Given the description of an element on the screen output the (x, y) to click on. 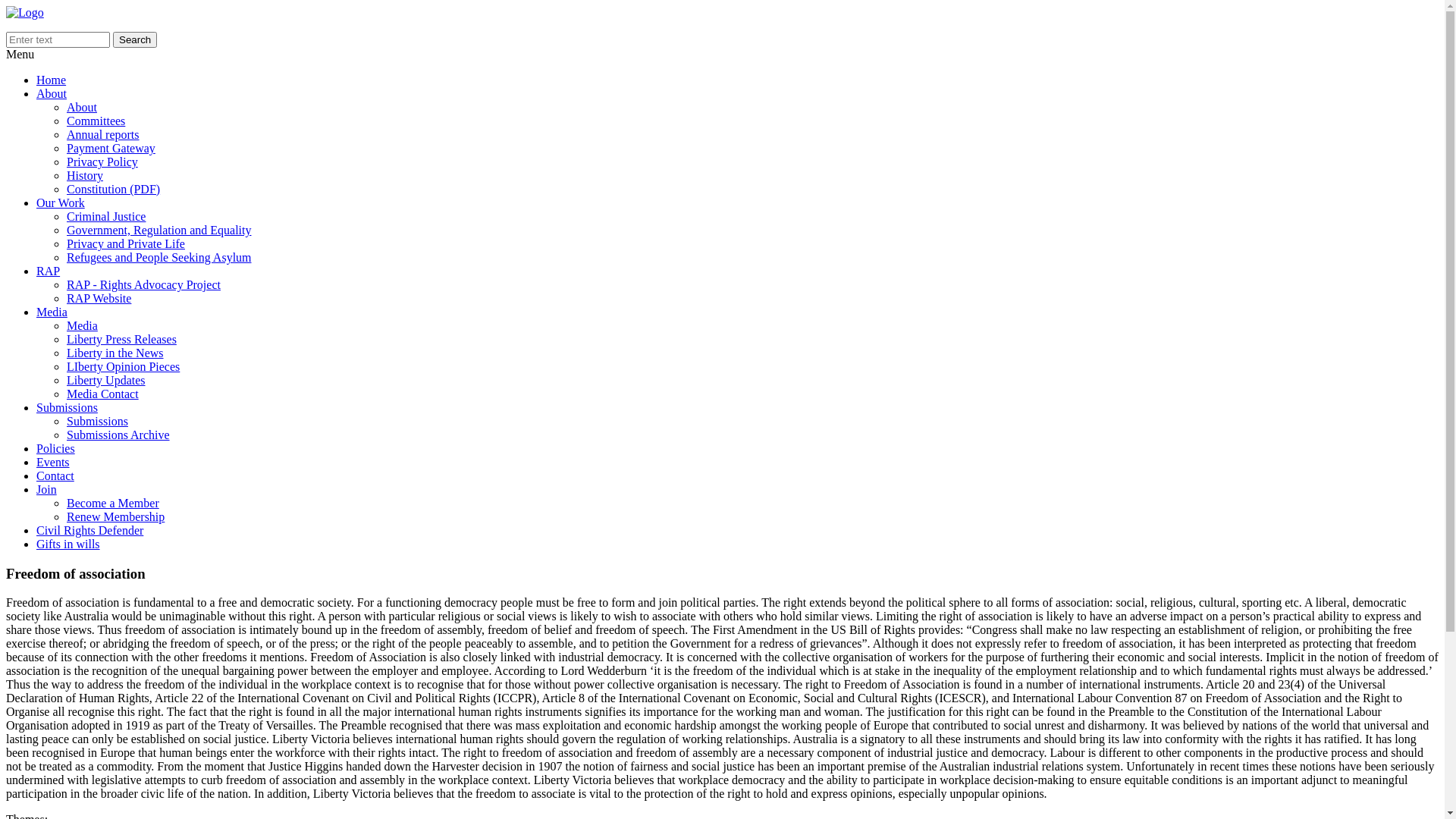
Criminal Justice Element type: text (105, 216)
Government, Regulation and Equality Element type: text (158, 229)
Refugees and People Seeking Asylum Element type: text (158, 257)
Enter the terms you wish to search for. Element type: hover (57, 39)
About Element type: text (51, 93)
Contact Element type: text (55, 475)
Join Element type: text (46, 489)
Media Contact Element type: text (102, 393)
Become a Member Element type: text (112, 502)
Submissions Element type: text (66, 407)
Liberty Updates Element type: text (105, 379)
Civil Rights Defender Element type: text (89, 530)
Search Element type: text (134, 39)
RAP Element type: text (47, 270)
Gifts in wills Element type: text (68, 543)
RAP Website Element type: text (98, 297)
Constitution (PDF) Element type: text (113, 188)
Annual reports Element type: text (102, 134)
Media Element type: text (81, 325)
Home Element type: text (50, 79)
Privacy and Private Life Element type: text (125, 243)
Our Work Element type: text (60, 202)
Events Element type: text (52, 461)
Media Element type: text (51, 311)
Liberty Press Releases Element type: text (121, 338)
Privacy Policy Element type: text (102, 161)
About Element type: text (81, 106)
Submissions Element type: text (97, 420)
History Element type: text (84, 175)
Renew Membership Element type: text (115, 516)
Committees Element type: text (95, 120)
Submissions Archive Element type: text (117, 434)
Payment Gateway Element type: text (110, 147)
Policies Element type: text (55, 448)
RAP - Rights Advocacy Project Element type: text (143, 284)
LIberty Opinion Pieces Element type: text (122, 366)
Liberty in the News Element type: text (114, 352)
